Given the description of an element on the screen output the (x, y) to click on. 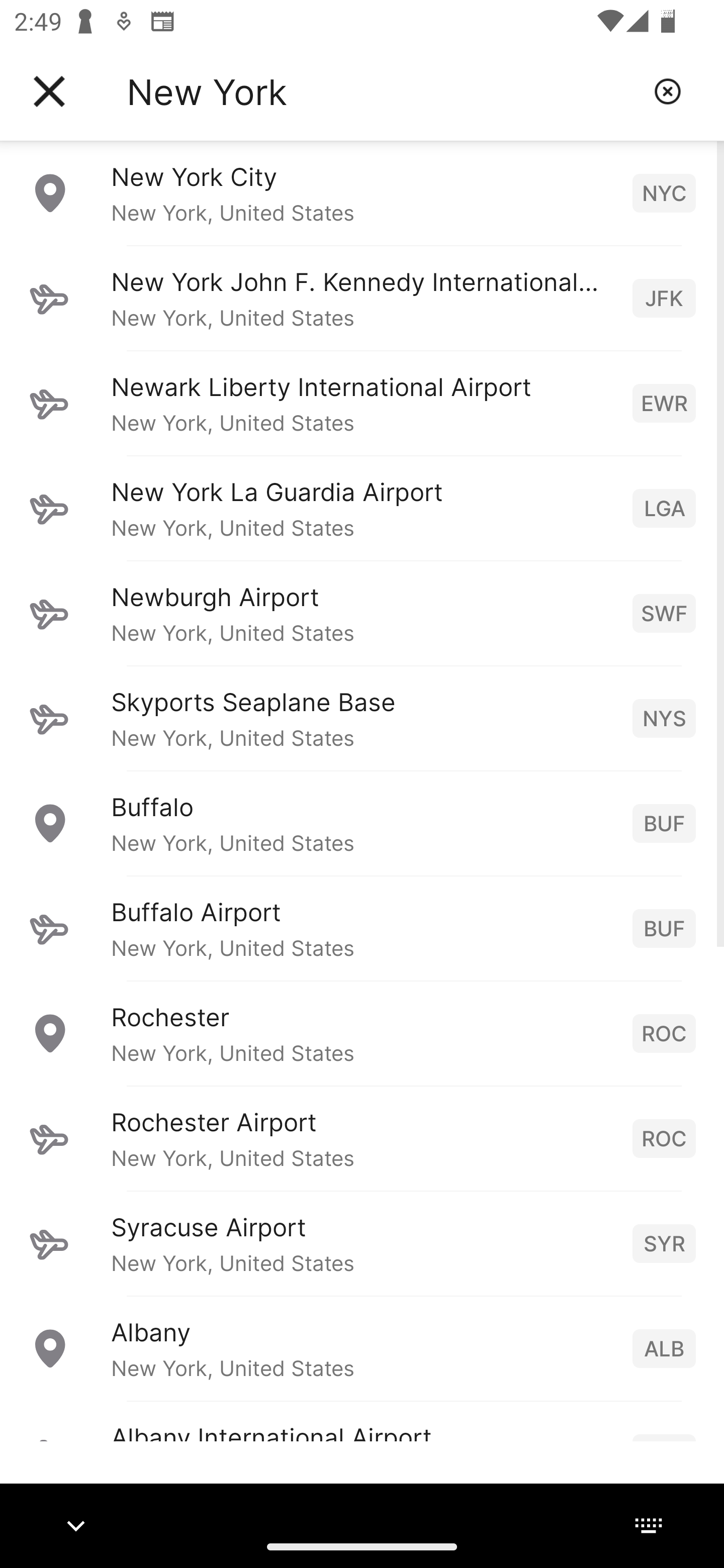
New York (382, 91)
New York City New York, United States NYC (362, 192)
Newburgh Airport New York, United States SWF (362, 612)
Skyports Seaplane Base New York, United States NYS (362, 717)
Buffalo New York, United States BUF (362, 822)
Buffalo Airport New York, United States BUF (362, 928)
Rochester New York, United States ROC (362, 1033)
Rochester Airport New York, United States ROC (362, 1138)
Syracuse Airport New York, United States SYR (362, 1243)
Albany New York, United States ALB (362, 1348)
